Given the description of an element on the screen output the (x, y) to click on. 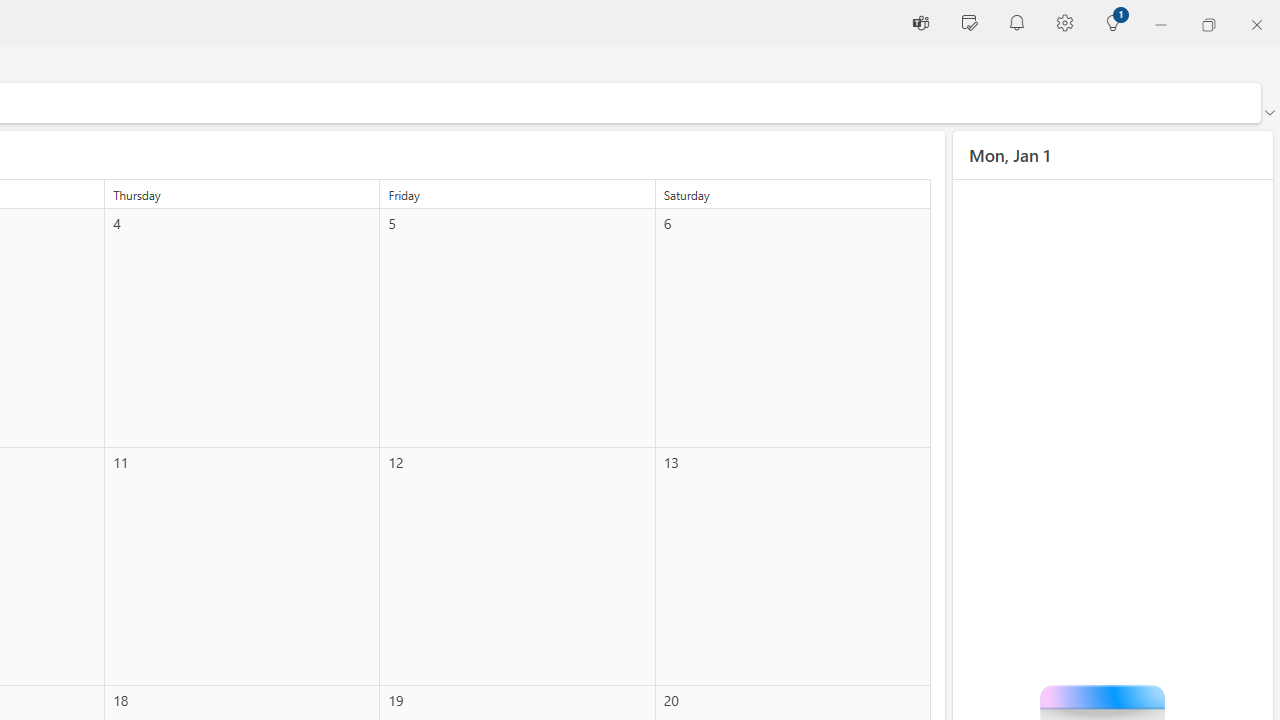
Ribbon display options (1269, 112)
